Given the description of an element on the screen output the (x, y) to click on. 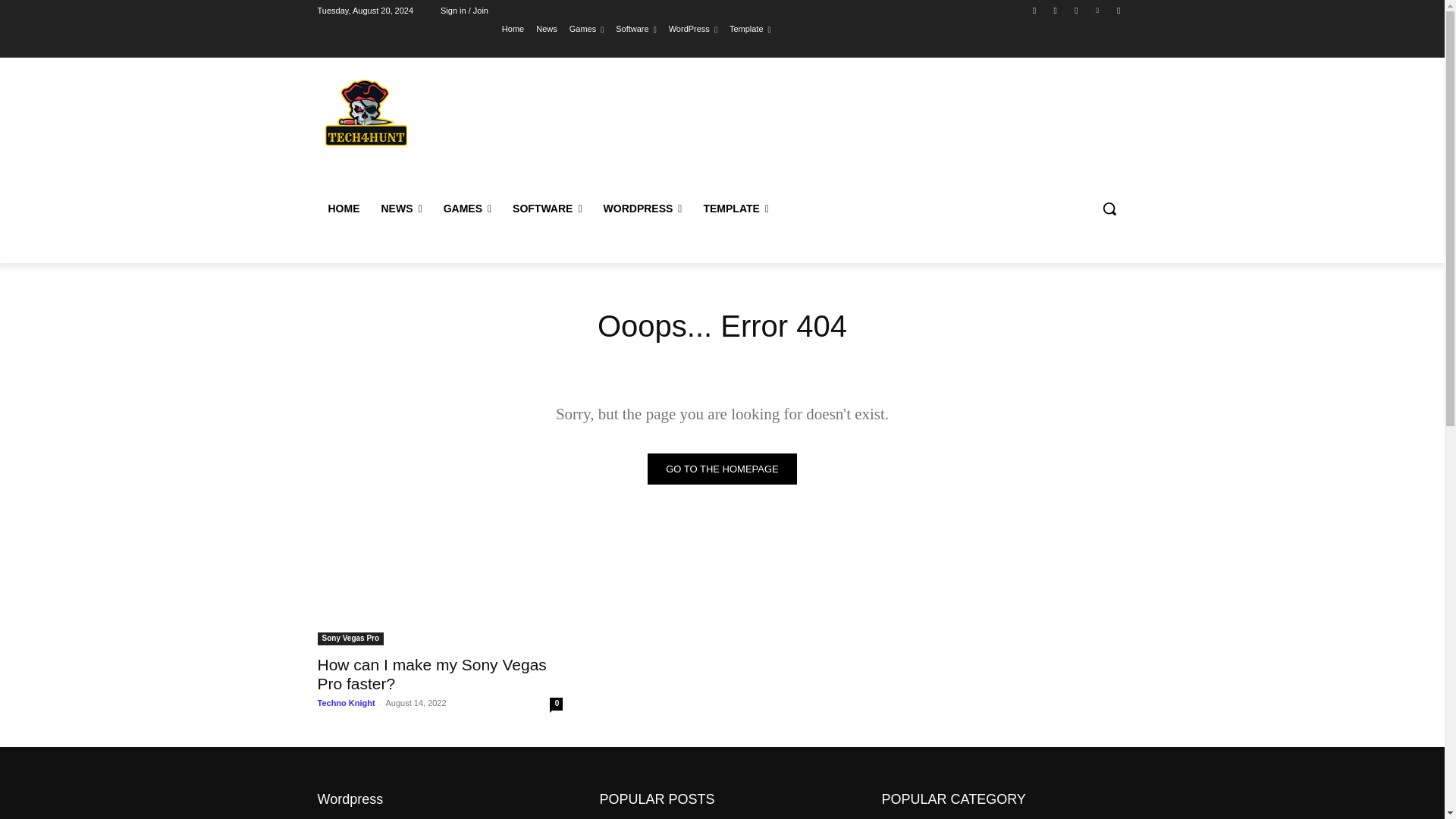
How can I make my Sony Vegas Pro faster? (431, 674)
Advertisement (846, 128)
Software (635, 28)
Instagram (1055, 9)
Template (750, 28)
Go to the homepage (721, 468)
Games (586, 28)
Vimeo (1097, 9)
Home (513, 28)
Facebook (1034, 9)
